Given the description of an element on the screen output the (x, y) to click on. 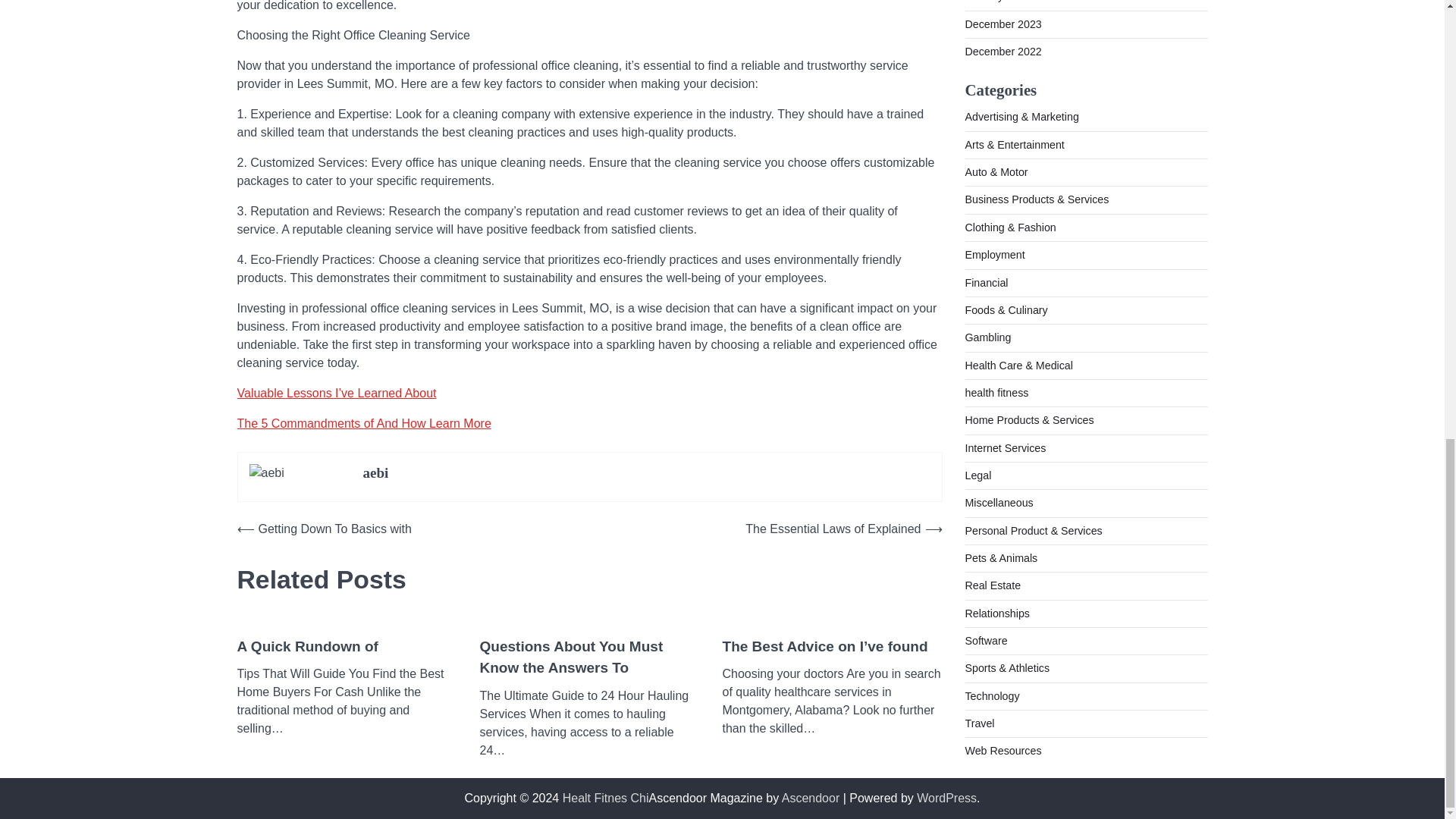
Financial (985, 105)
Learning The Secrets About (818, 647)
Gambling (986, 159)
Employment (994, 77)
Questions About You Must Know the Answers To (588, 657)
The 5 Commandments of And How Learn More (362, 422)
Lessons Learned About (317, 647)
